Given the description of an element on the screen output the (x, y) to click on. 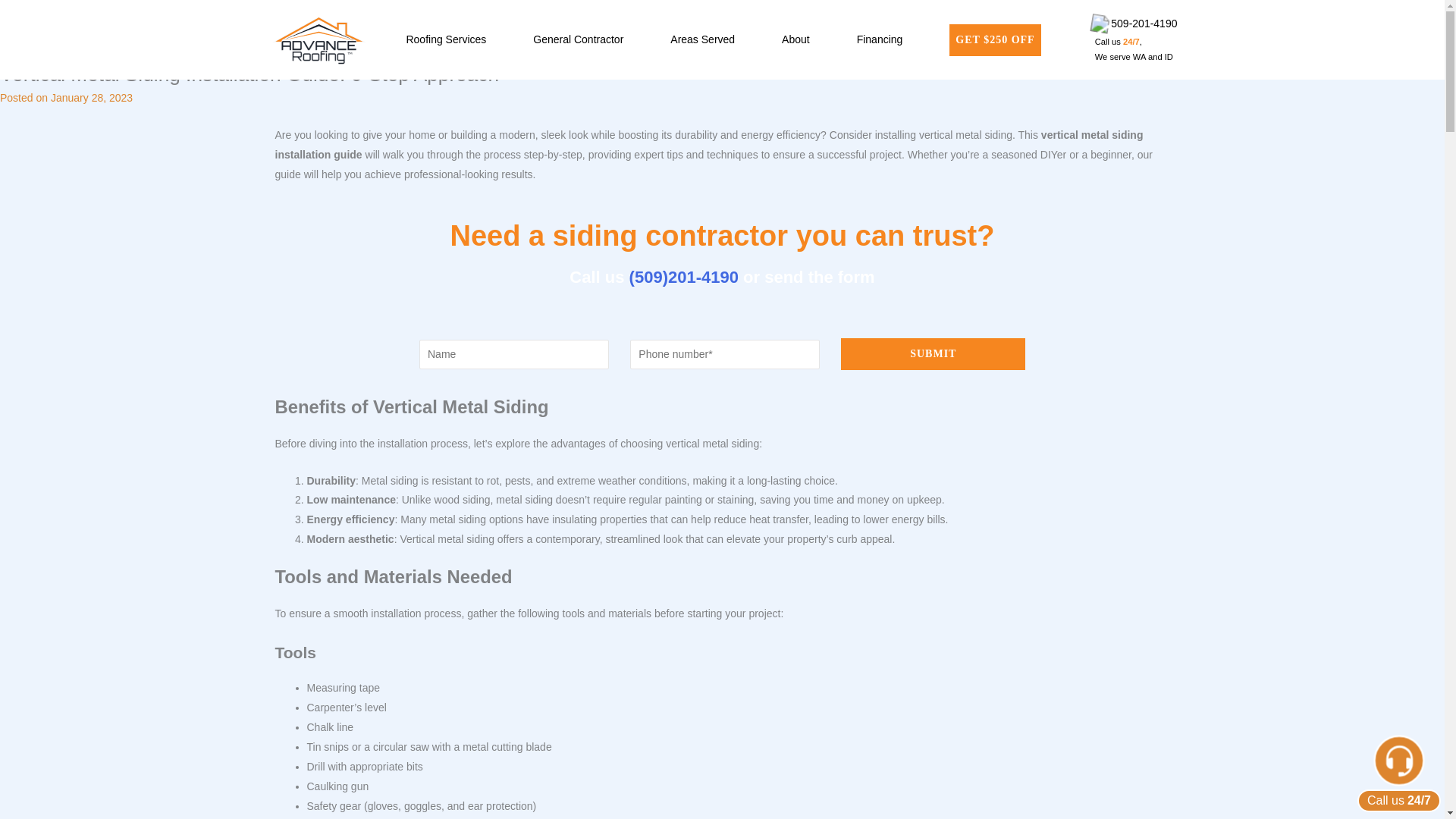
Financing (885, 39)
General Contractor (582, 39)
Areas Served (707, 39)
Roofing Services (451, 39)
About (801, 39)
